Given the description of an element on the screen output the (x, y) to click on. 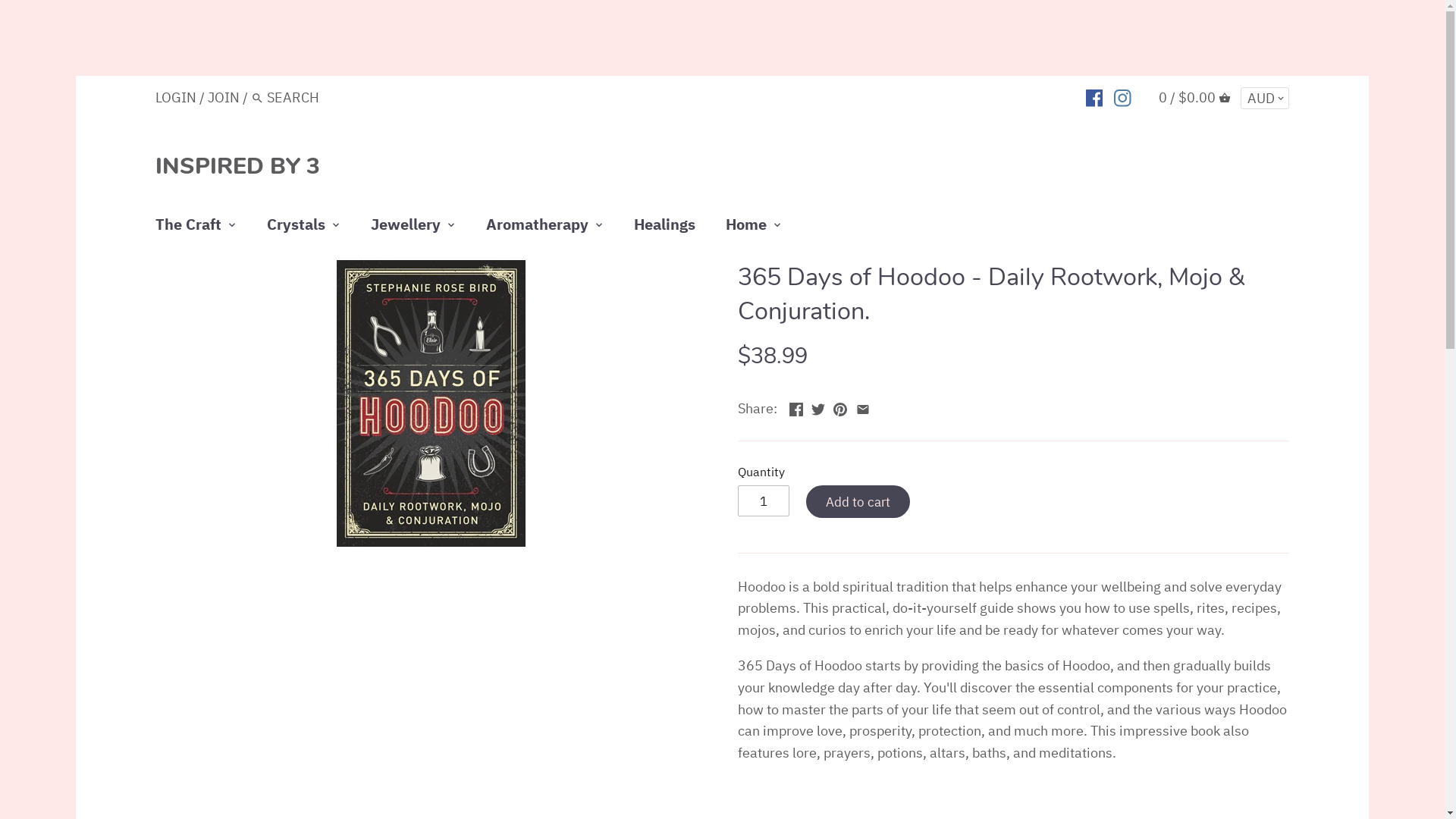
0 / $0.00 CART Element type: text (1194, 97)
Crystals Element type: text (295, 227)
Jewellery Element type: text (405, 227)
Submit Element type: text (722, 257)
Pinterest Element type: text (840, 406)
The Craft Element type: text (195, 227)
LOGIN Element type: text (175, 97)
INSTAGRAM Element type: text (1122, 96)
FACEBOOK Element type: text (1094, 96)
Twitter Element type: text (818, 406)
Email Element type: text (862, 406)
Add to cart Element type: text (858, 501)
Facebook Element type: text (796, 406)
Search Element type: text (257, 99)
Aromatherapy Element type: text (536, 227)
INSPIRED BY 3 Element type: text (237, 166)
JOIN Element type: text (223, 97)
Home Element type: text (745, 227)
Healings Element type: text (664, 227)
